Given the description of an element on the screen output the (x, y) to click on. 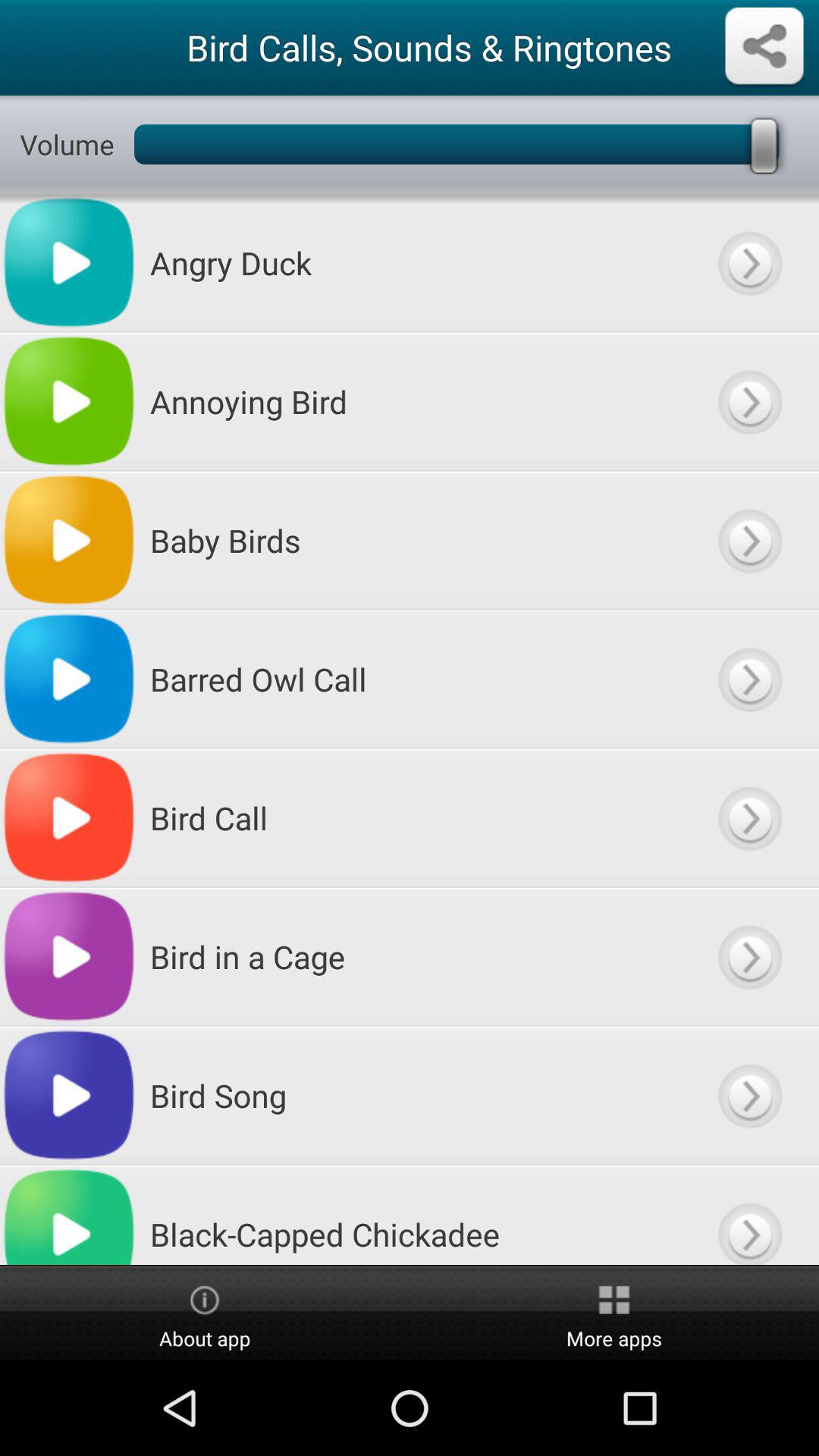
select option and exit (749, 262)
